Given the description of an element on the screen output the (x, y) to click on. 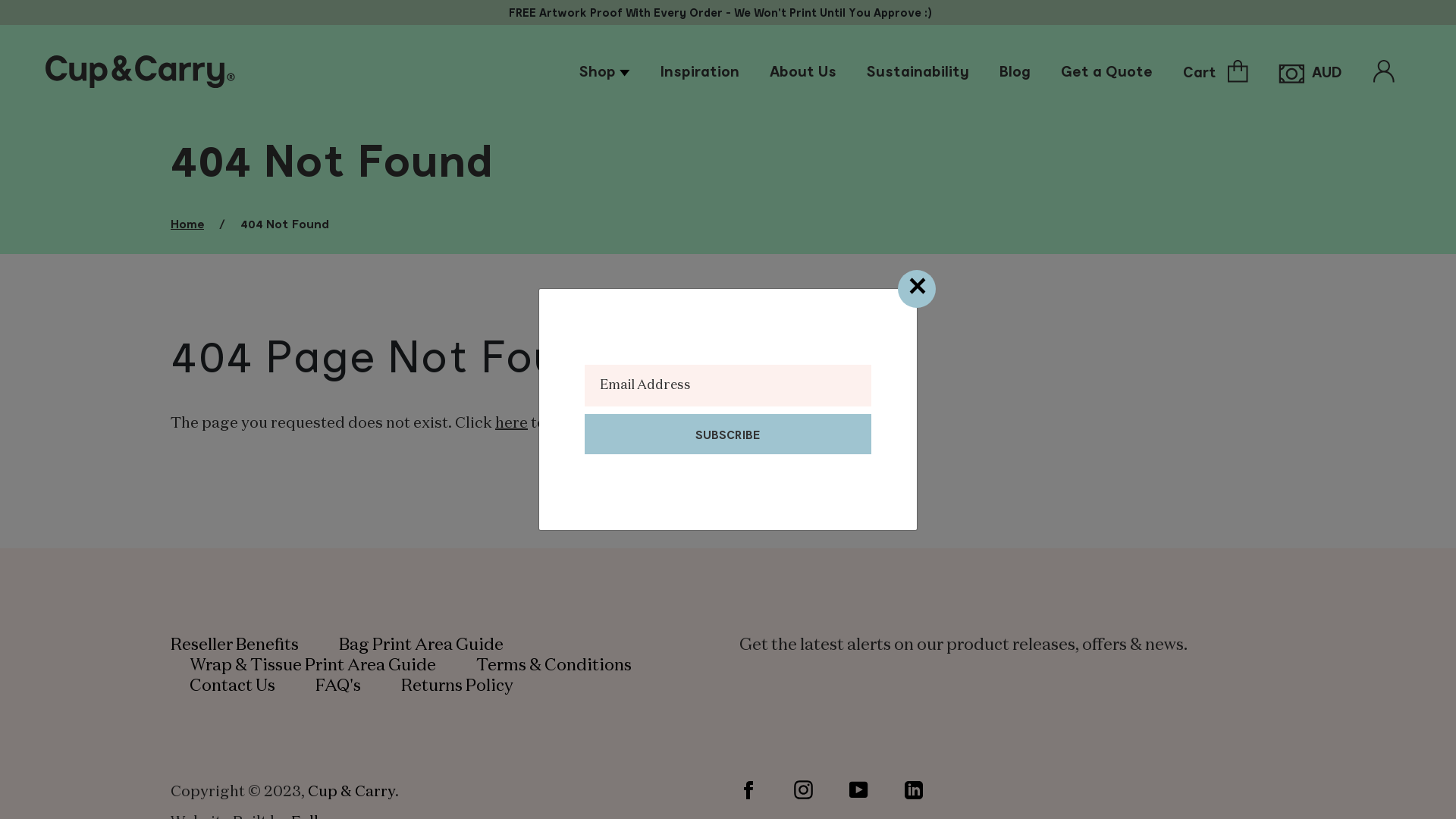
Inspiration Element type: text (699, 71)
Shop Element type: text (604, 71)
Facebook Element type: text (748, 790)
Returns Policy Element type: text (457, 686)
Terms & Conditions Element type: text (553, 665)
Sustainability Element type: text (917, 71)
Reseller Benefits Element type: text (234, 645)
Bag Print Area Guide Element type: text (420, 645)
Instagram Element type: text (802, 789)
Wrap & Tissue Print Area Guide Element type: text (312, 665)
Home Element type: text (194, 223)
FAQ's Element type: text (337, 686)
Contact Us Element type: text (232, 686)
AUD Element type: text (1310, 71)
Cup & Carry Element type: text (351, 791)
Cart Element type: text (1215, 70)
Linkedin Element type: text (913, 790)
Get a Quote Element type: text (1106, 71)
here Element type: text (511, 422)
Subscribe Element type: text (727, 434)
About Us Element type: text (802, 71)
YouTube Element type: text (858, 789)
Blog Element type: text (1014, 71)
